Given the description of an element on the screen output the (x, y) to click on. 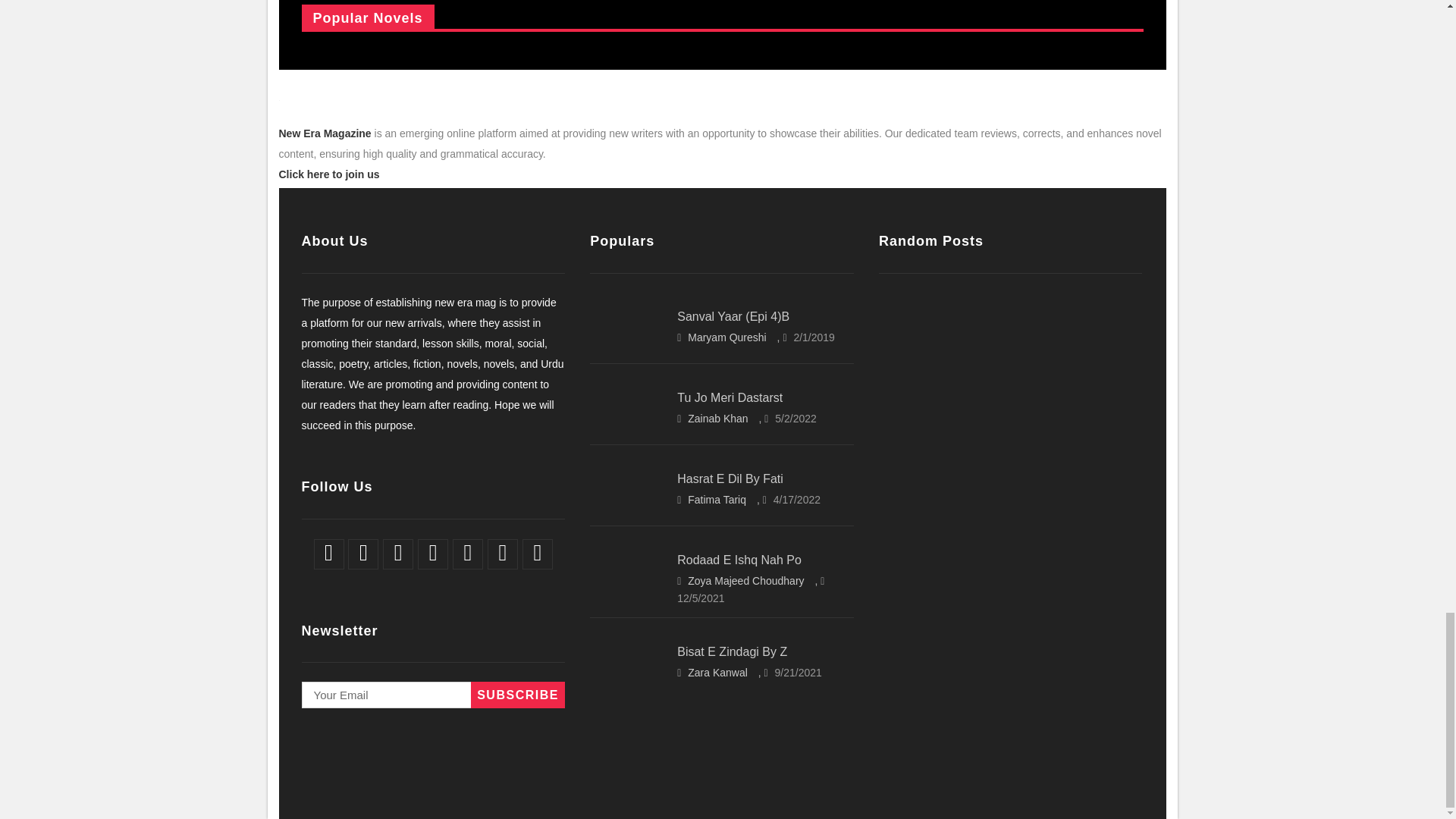
Your Email (432, 694)
Subscribe (517, 694)
